Given the description of an element on the screen output the (x, y) to click on. 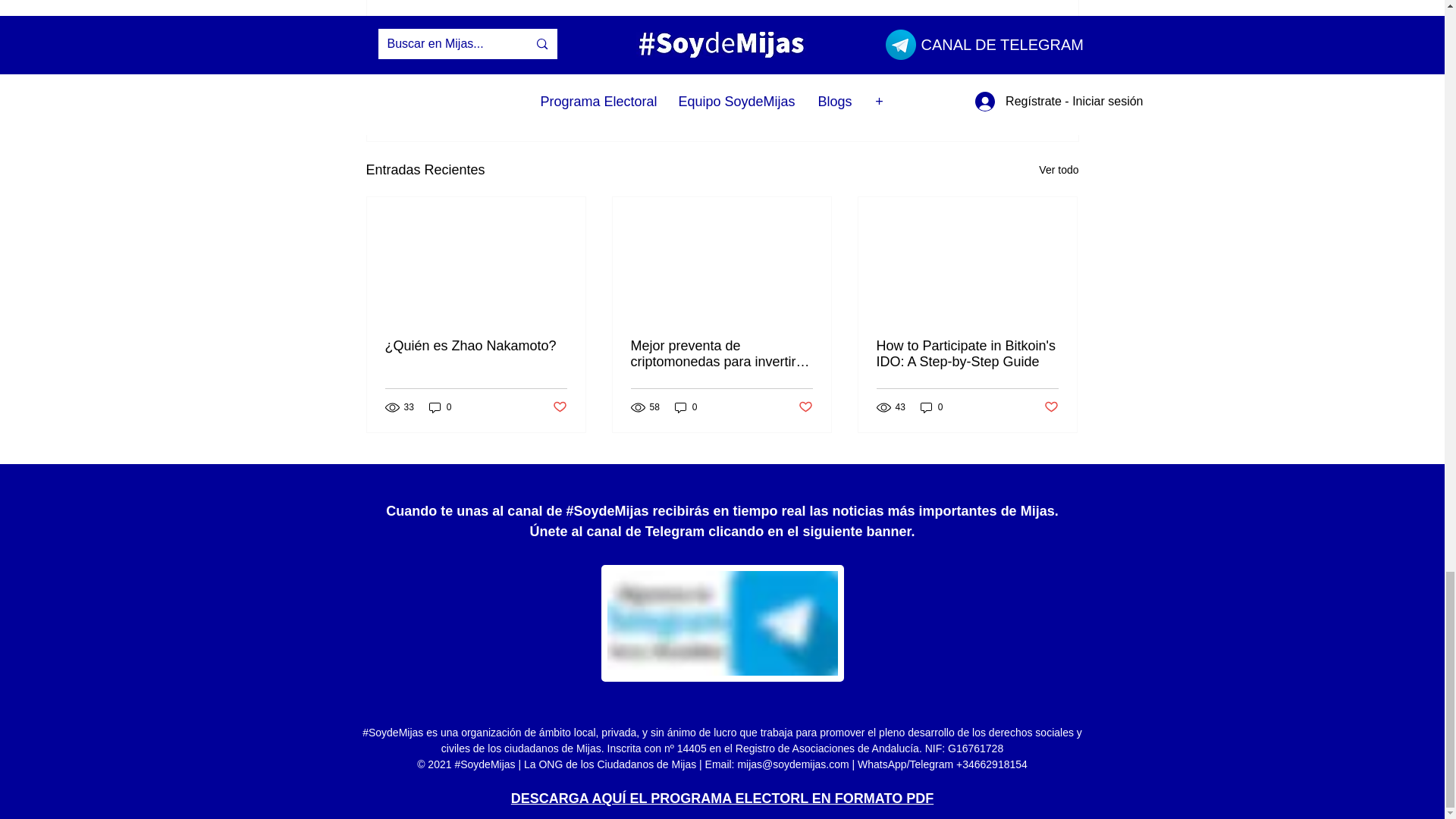
Entrada no marcada como Me Gusta (995, 87)
Mejor preventa de criptomonedas para invertir ahora. (721, 354)
0 (440, 407)
0 (685, 407)
Entrada no marcada como Me Gusta (804, 407)
Entrada no marcada como Me Gusta (558, 407)
Crypto News (972, 42)
Ver todo (1058, 169)
